Given the description of an element on the screen output the (x, y) to click on. 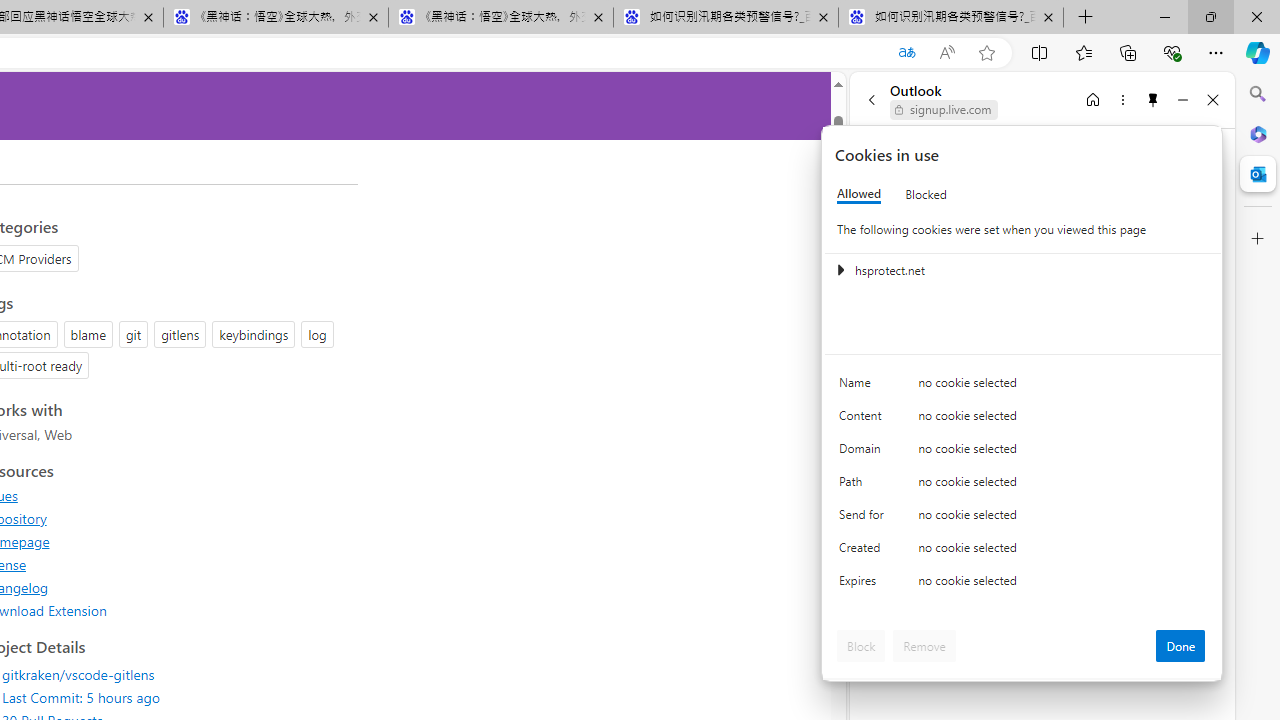
Class: c0153 c0157 c0154 (1023, 386)
Blocked (925, 193)
Class: c0153 c0157 (1023, 584)
Path (864, 485)
Block (861, 645)
Content (864, 420)
Name (864, 387)
Created (864, 552)
no cookie selected (1062, 585)
Allowed (859, 193)
Expires (864, 585)
Domain (864, 452)
Remove (924, 645)
Send for (864, 518)
Done (1179, 645)
